Given the description of an element on the screen output the (x, y) to click on. 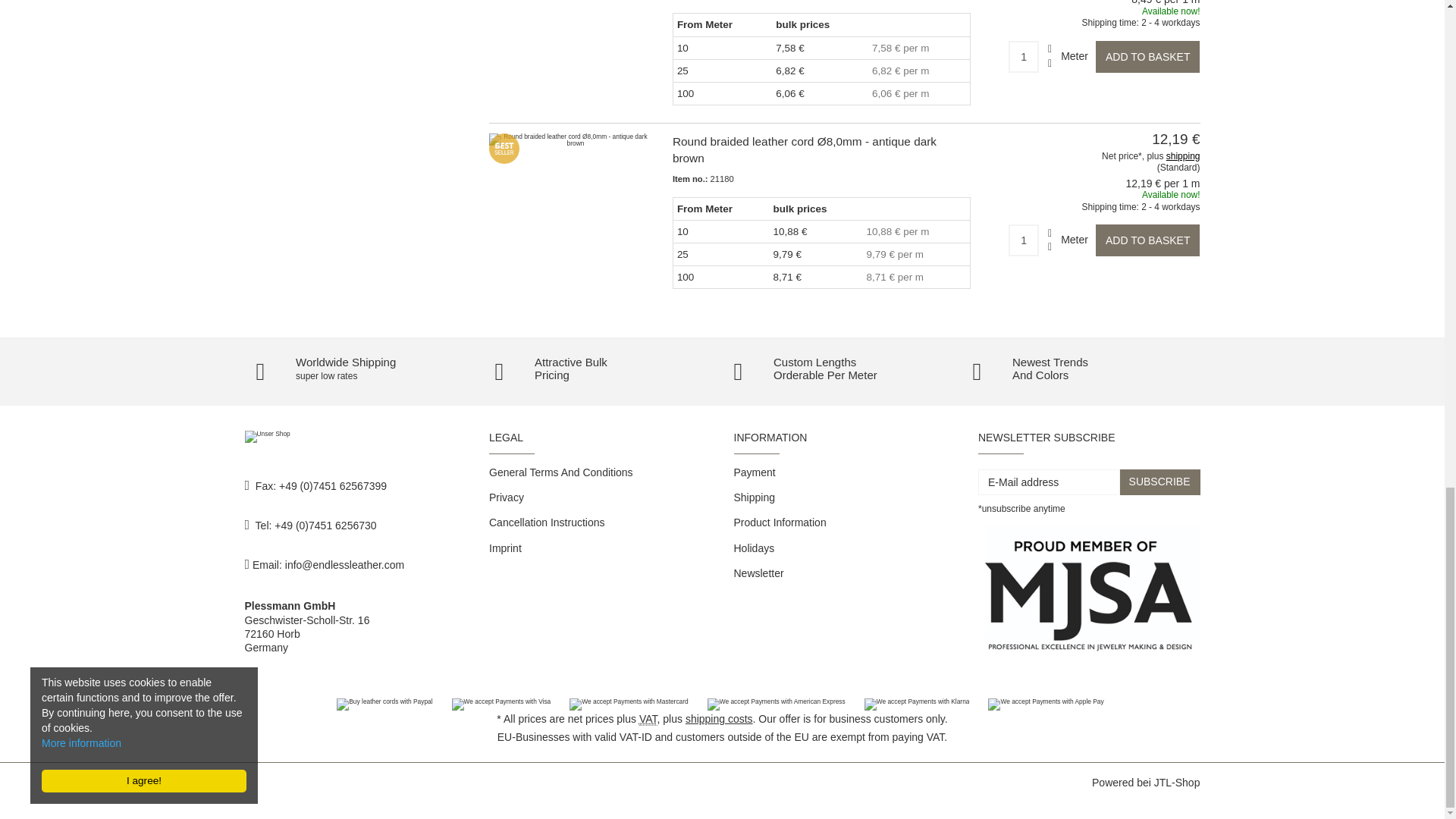
1 (1024, 240)
1 (1024, 56)
